Given the description of an element on the screen output the (x, y) to click on. 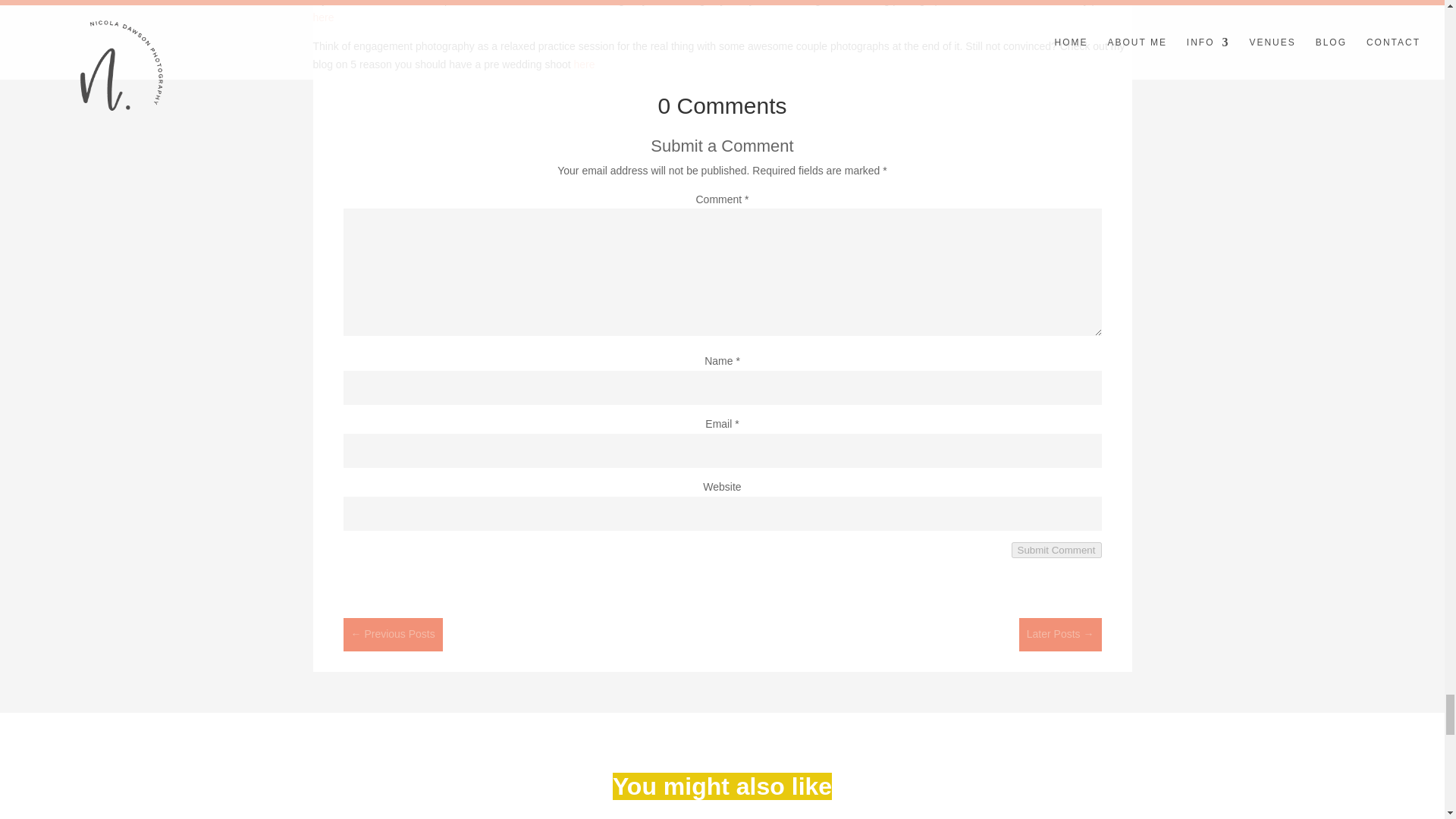
here (323, 17)
5 reasons why you should definitely have an engagement shoot (584, 64)
Submit Comment (1056, 549)
here (584, 64)
